Given the description of an element on the screen output the (x, y) to click on. 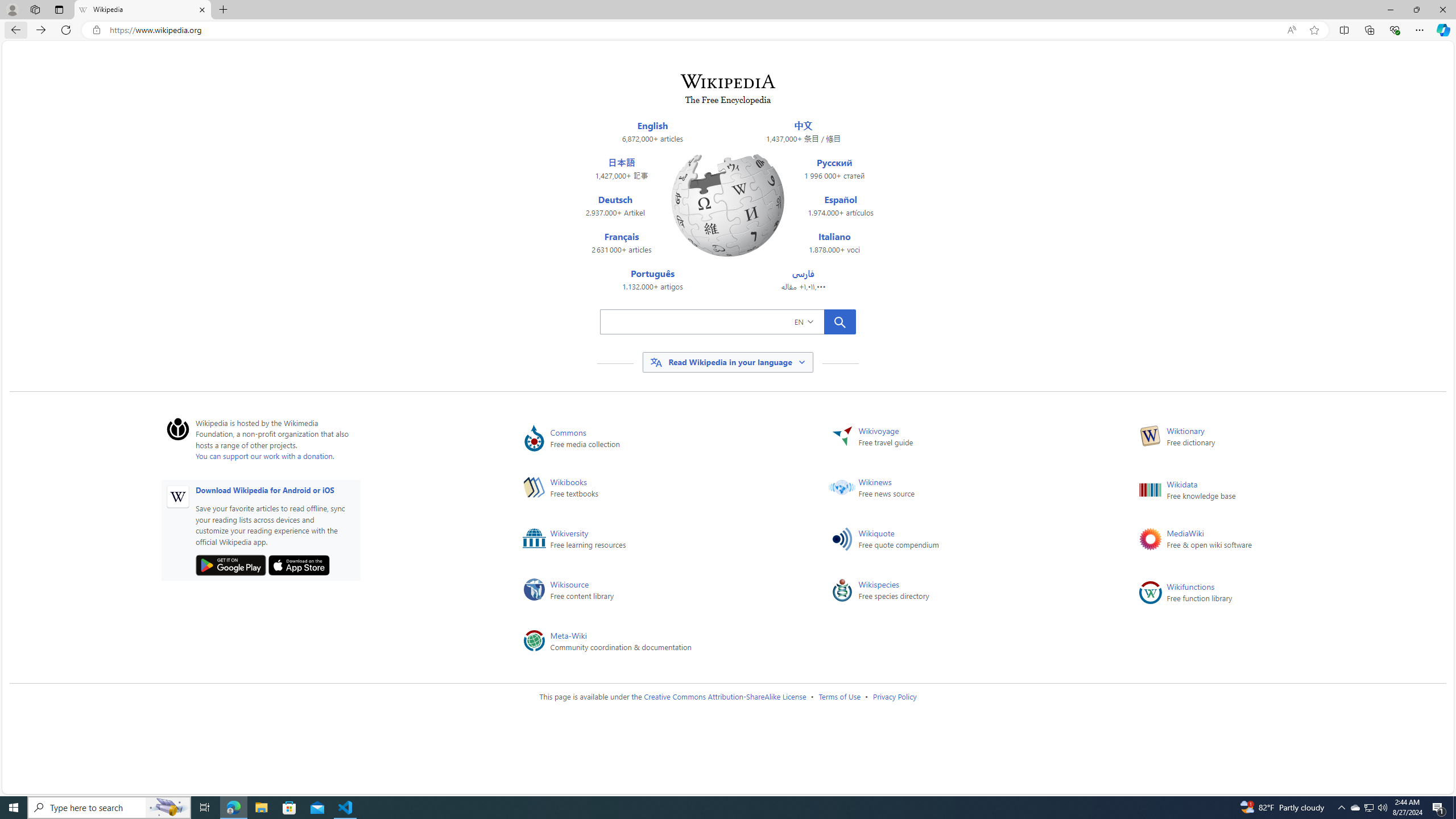
Meta-Wiki Community coordination & documentation (658, 643)
You can support our work with a donation. (264, 456)
Wikinews Free news source (965, 489)
Wikipedia - Sleeping (142, 9)
Google Play Store (230, 565)
Wikispecies Free species directory (965, 592)
Wikiversity Free learning resources (658, 541)
Apple App Store (298, 565)
Forward (40, 29)
